Given the description of an element on the screen output the (x, y) to click on. 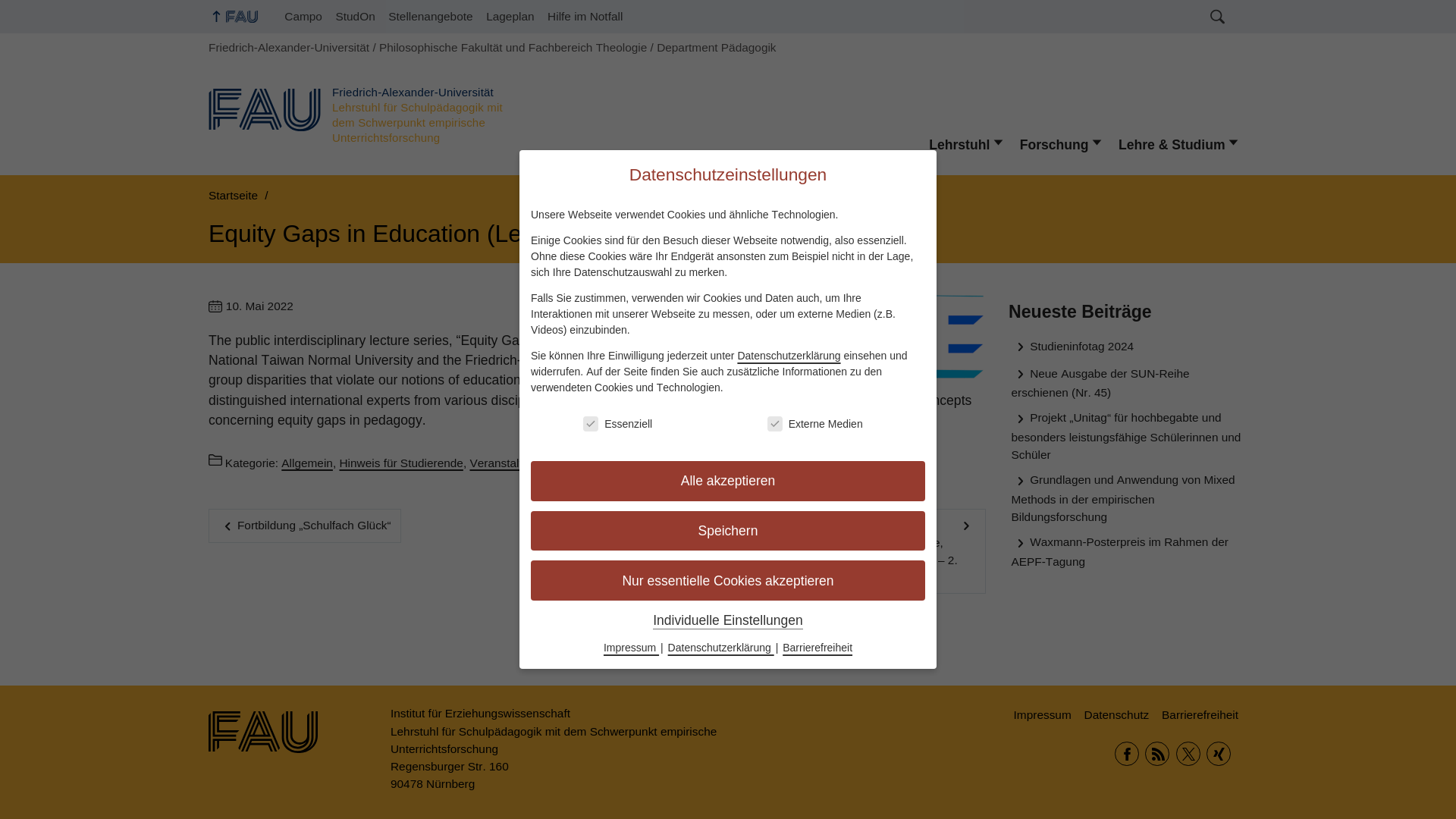
Hilfe im Notfall (584, 16)
Stellenangebote (430, 16)
Campo (303, 16)
Forschung (1060, 144)
Lageplan (509, 16)
StudOn (355, 16)
Lehrstuhl (966, 144)
